Given the description of an element on the screen output the (x, y) to click on. 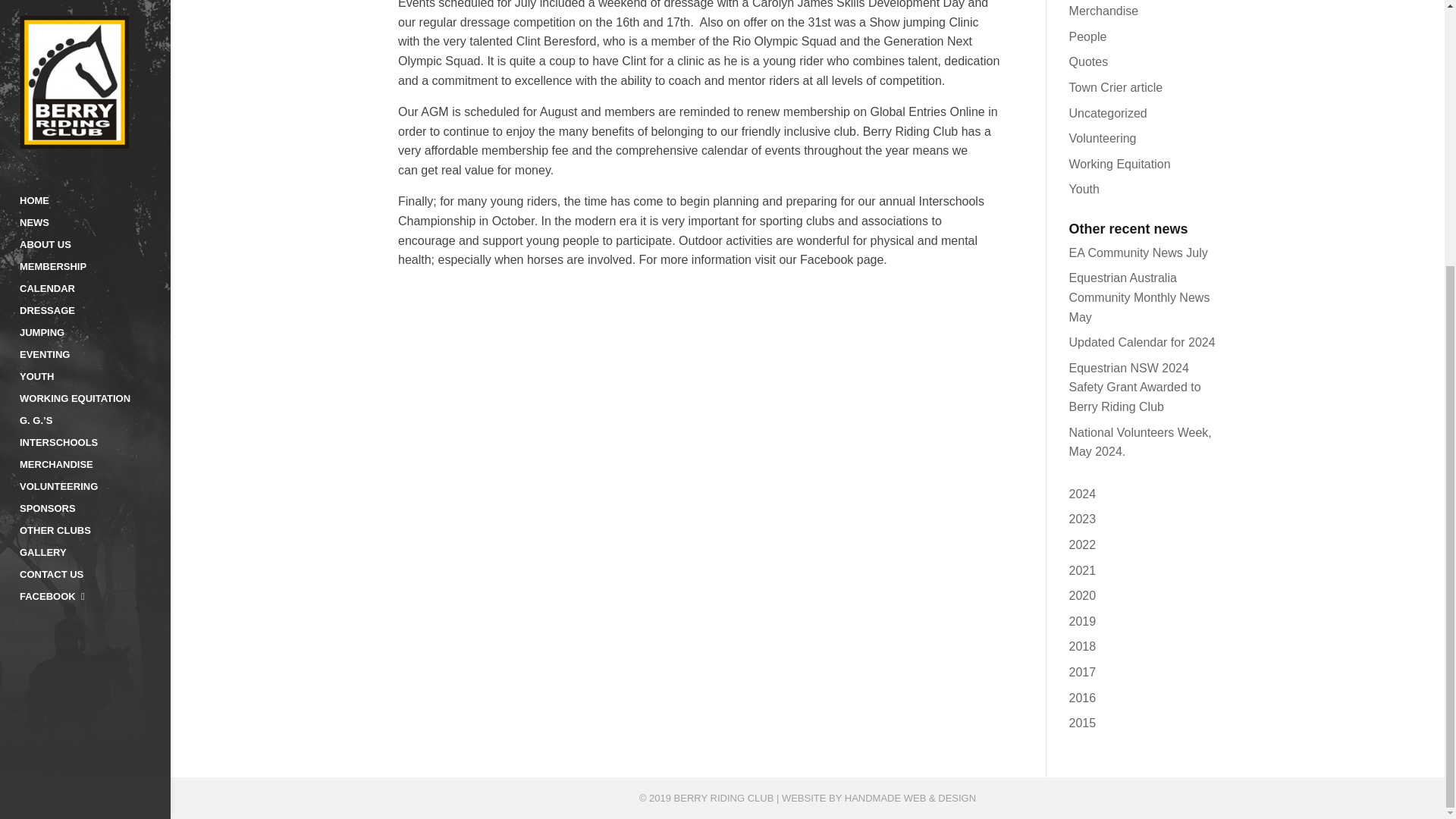
SPONSORS (94, 128)
GALLERY (94, 173)
INTERSCHOOLS (94, 63)
OTHER CLUBS (94, 151)
VOLUNTEERING (94, 106)
WORKING EQUITATION (94, 19)
FACEBOOK   (94, 217)
YOUTH (94, 4)
CONTACT US (94, 195)
MERCHANDISE (94, 85)
